Given the description of an element on the screen output the (x, y) to click on. 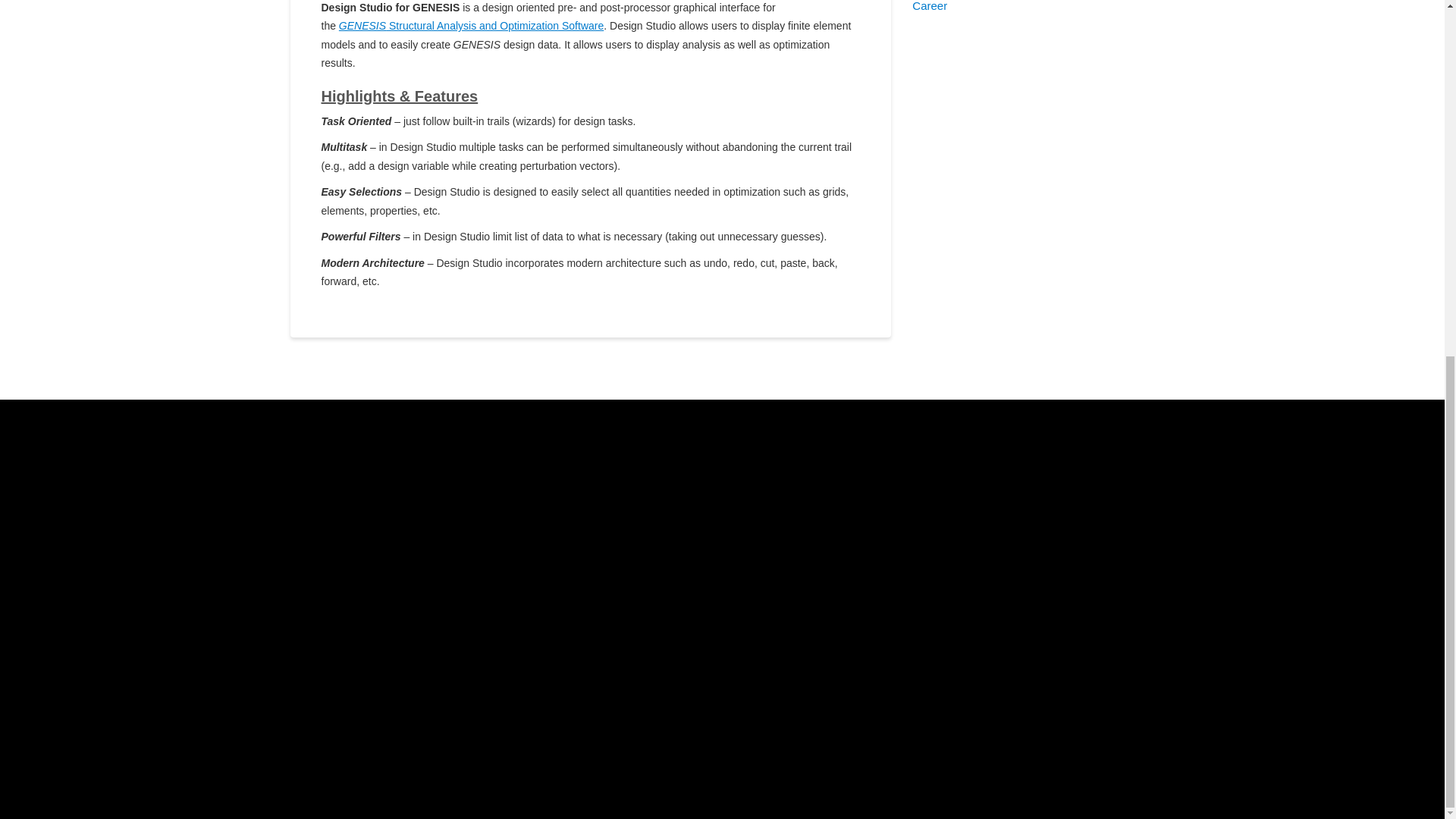
Career (929, 6)
GENESIS Structural Analysis and Optimization Software (471, 25)
